Given the description of an element on the screen output the (x, y) to click on. 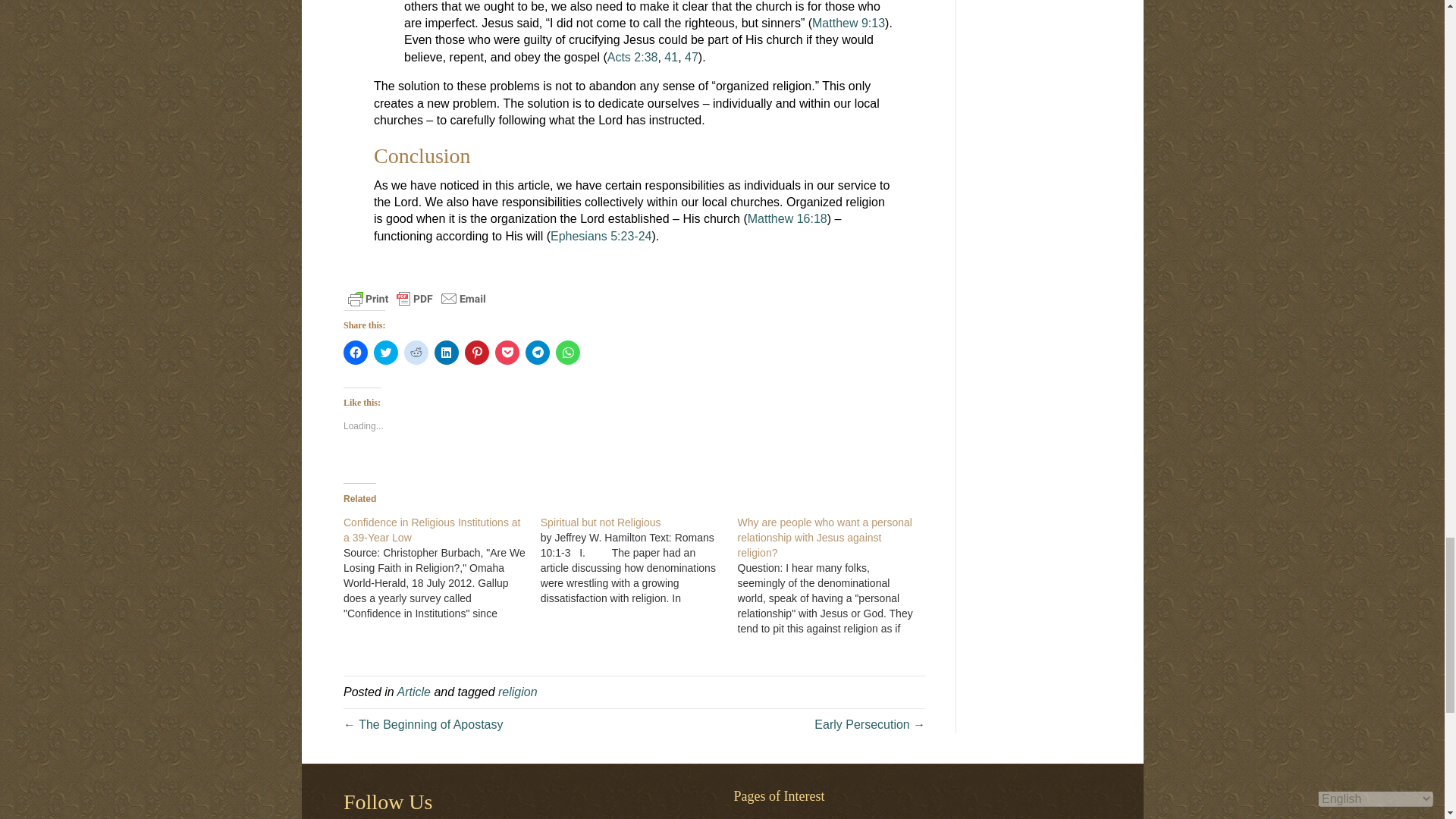
Spiritual but not Religious (639, 560)
Click to share on Facebook (355, 352)
Click to share on Telegram (537, 352)
Confidence in Religious Institutions at a 39-Year Low (441, 567)
Click to share on Pocket (507, 352)
Click to share on Twitter (385, 352)
Click to share on Pinterest (476, 352)
Click to share on WhatsApp (567, 352)
Spiritual but not Religious (600, 522)
Confidence in Religious Institutions at a 39-Year Low (431, 529)
Click to share on Reddit (416, 352)
Click to share on LinkedIn (445, 352)
